Given the description of an element on the screen output the (x, y) to click on. 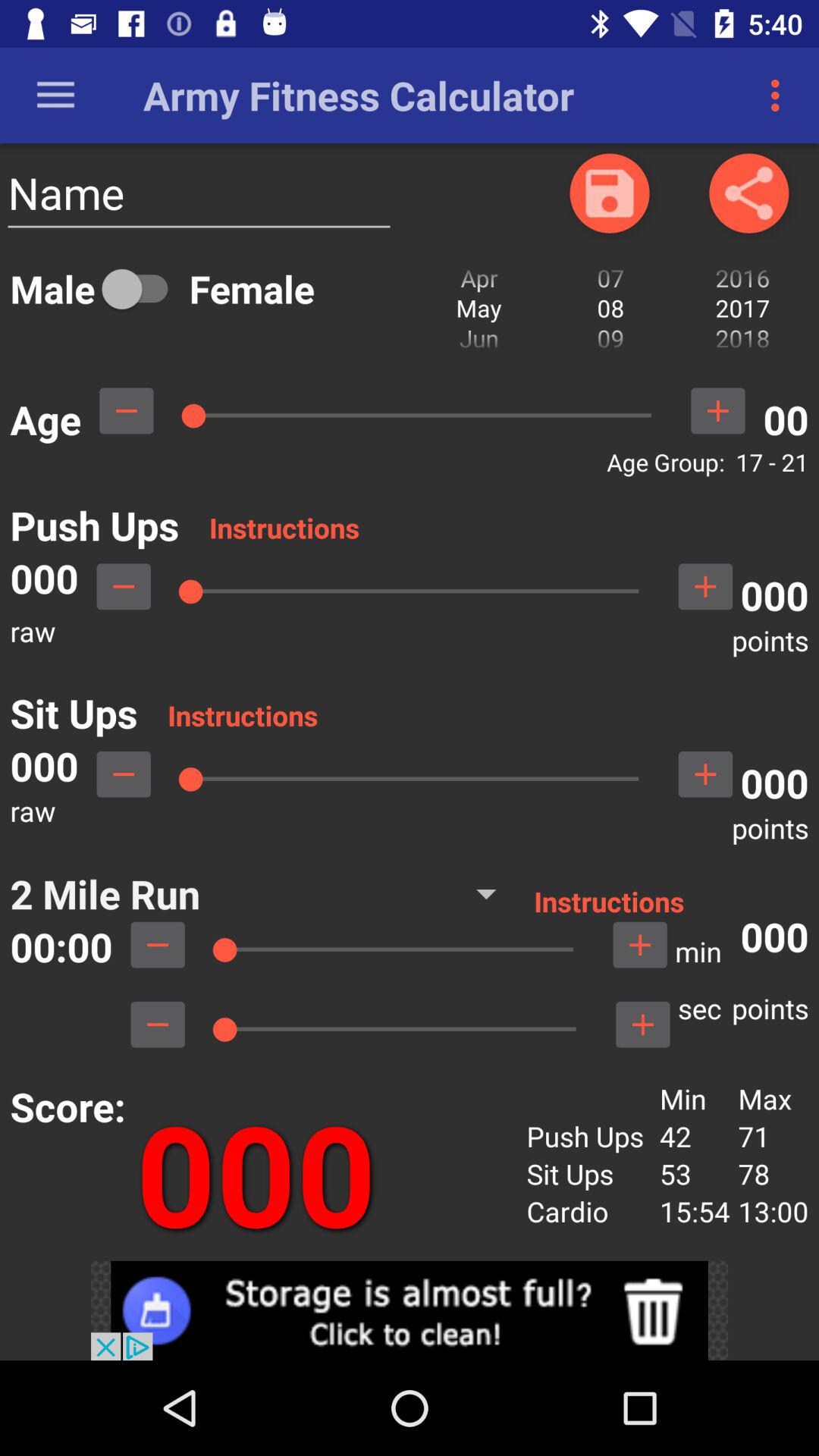
subtract number (126, 410)
